Given the description of an element on the screen output the (x, y) to click on. 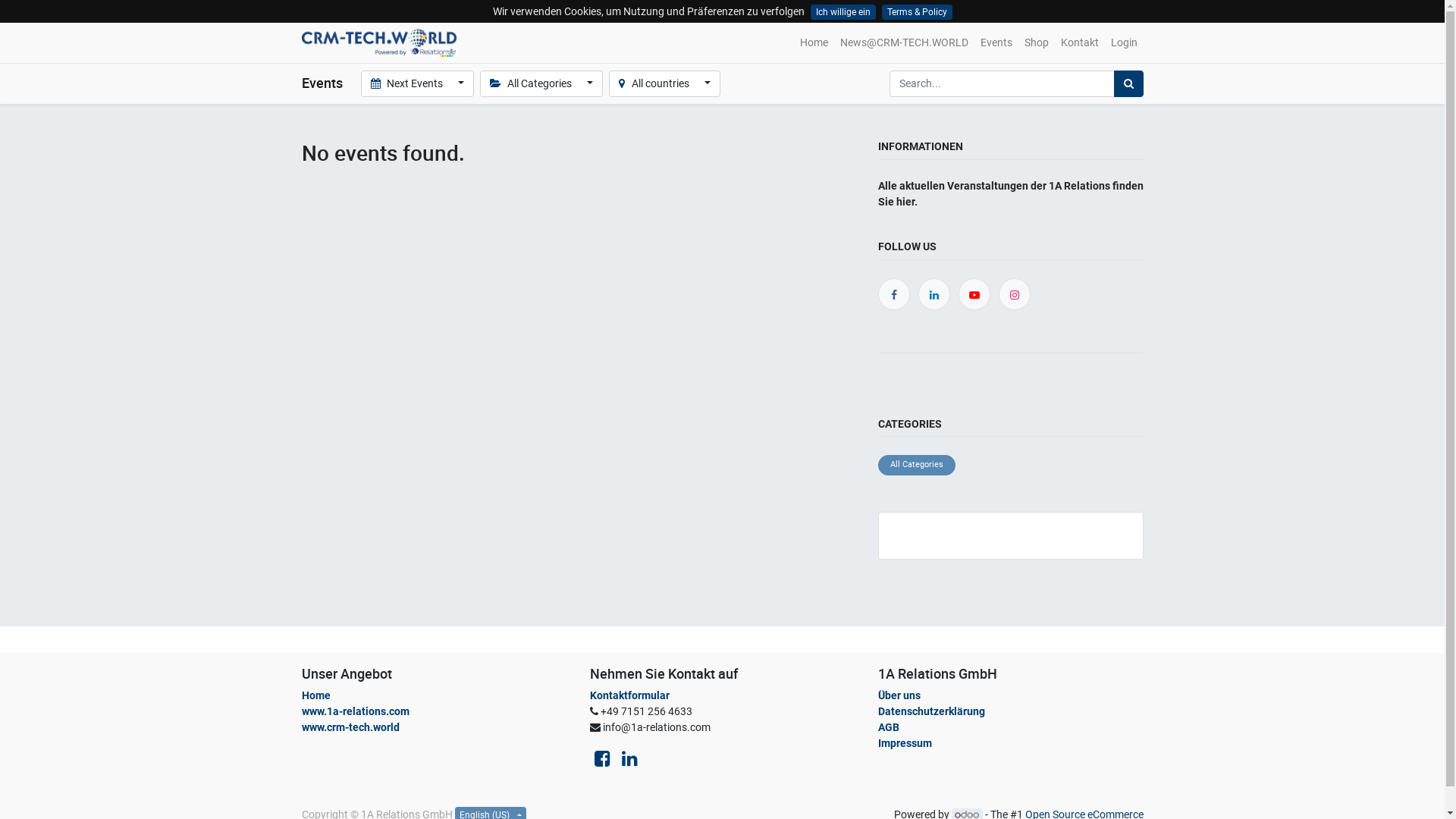
Instagram Element type: hover (1014, 294)
Kontakt Element type: text (1079, 42)
Terms & Policy Element type: text (916, 11)
All Categories Element type: text (541, 83)
LinkedIn Element type: hover (933, 294)
News@CRM-TECH.WORLD Element type: text (904, 42)
Ich willige ein Element type: text (842, 11)
Next Events Element type: text (416, 83)
   Element type: text (884, 379)
1a-relations.com Element type: hover (379, 42)
Youtube Element type: hover (974, 294)
www.1a-relations.com Element type: text (355, 711)
AGB Element type: text (888, 727)
Facebook Element type: hover (893, 294)
Home Element type: text (315, 695)
All countries Element type: text (663, 83)
Impressum  Element type: text (906, 743)
  Element type: text (880, 379)
Login Element type: text (1123, 42)
Search Element type: hover (1127, 83)
Kontaktformular Element type: text (629, 695)
Home Element type: text (813, 42)
Events Element type: text (995, 42)
www.crm-tech.world Element type: text (350, 727)
All Categories Element type: text (916, 465)
Shop Element type: text (1035, 42)
